Given the description of an element on the screen output the (x, y) to click on. 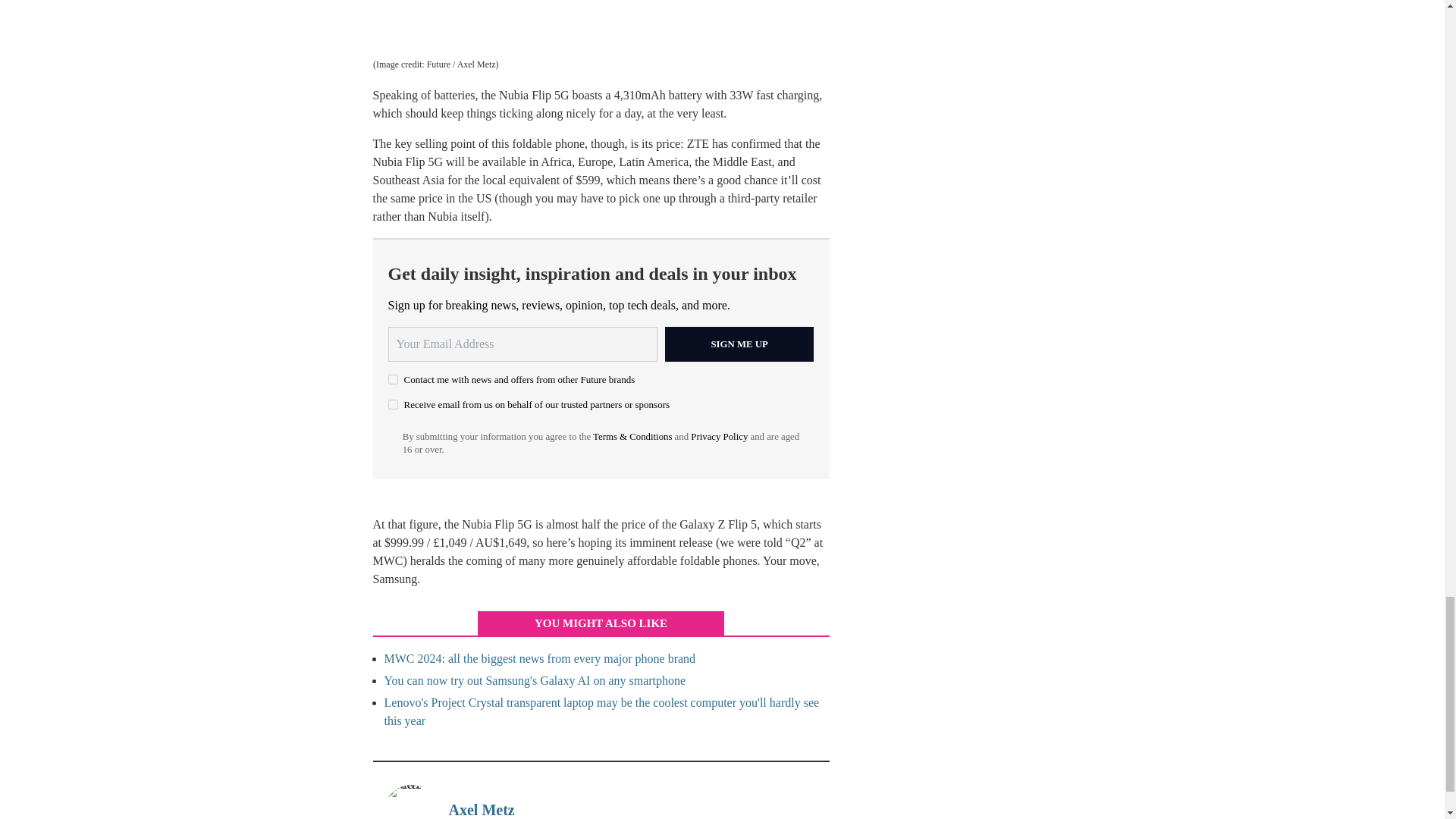
Sign me up (739, 64)
on (392, 125)
on (392, 100)
